Given the description of an element on the screen output the (x, y) to click on. 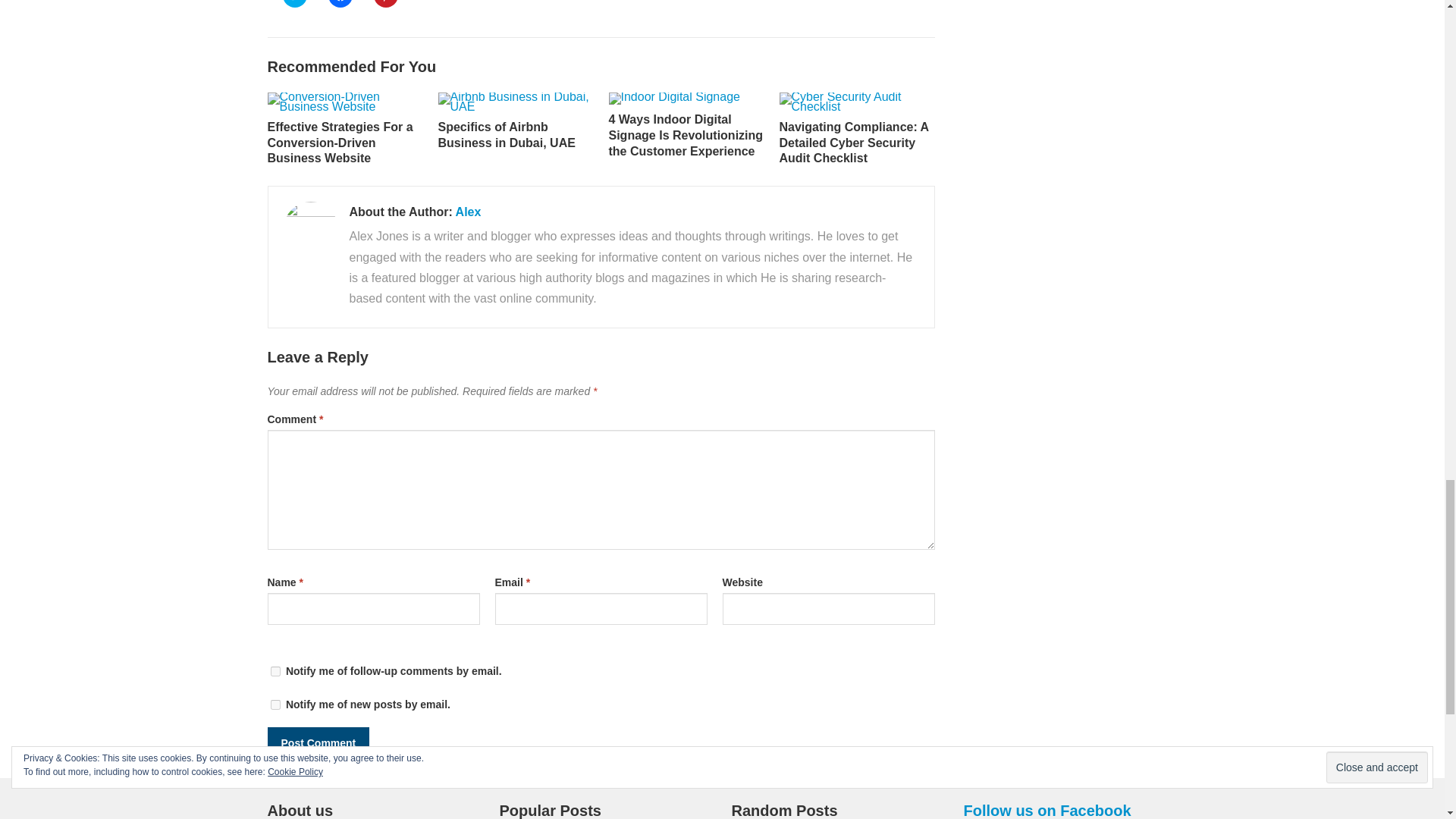
subscribe (274, 671)
subscribe (274, 705)
Click to share on Facebook (339, 3)
Click to share on Twitter (293, 3)
Post Comment (317, 743)
Click to share on Pinterest (384, 3)
